Given the description of an element on the screen output the (x, y) to click on. 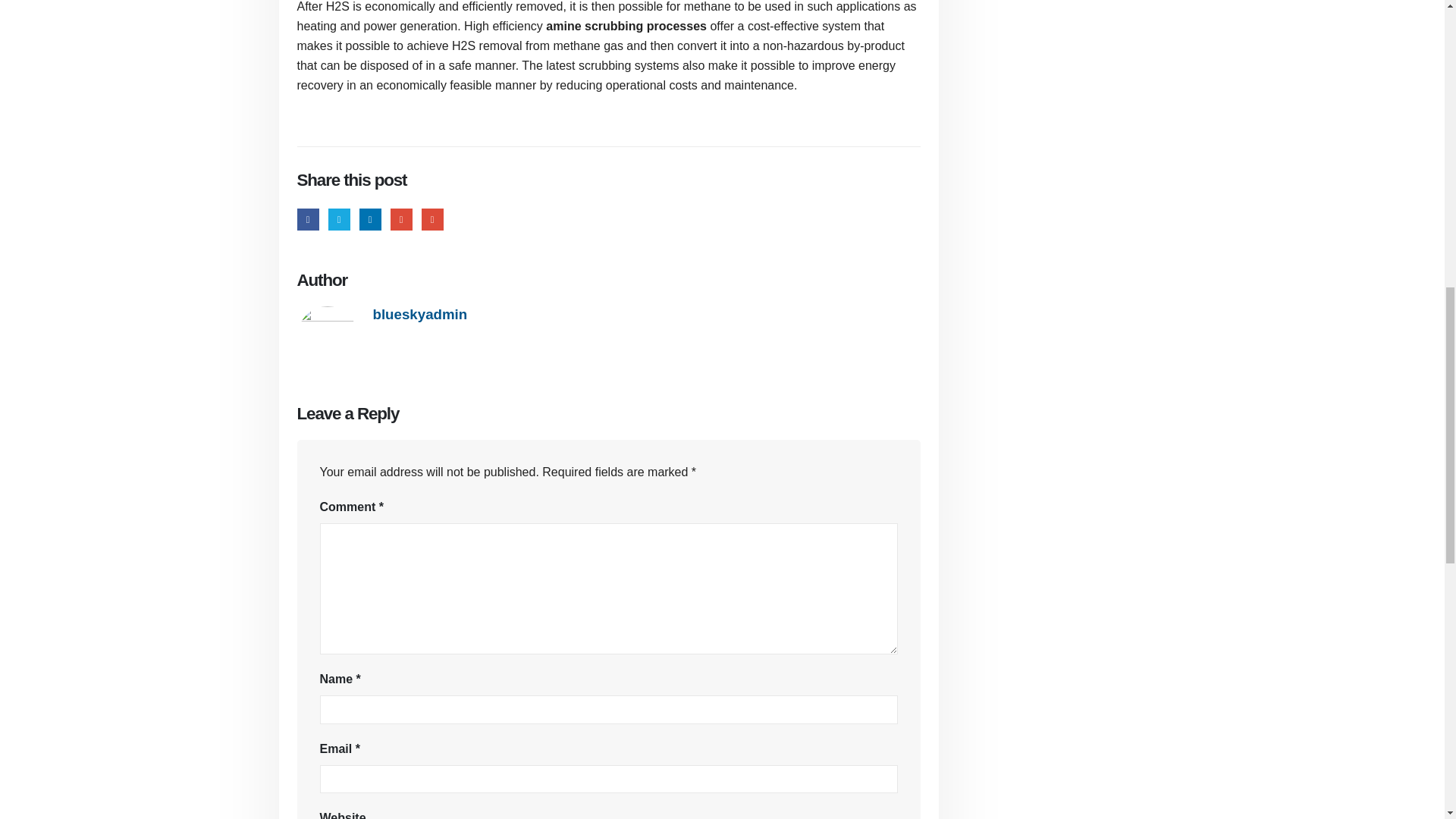
Posts by blueskyadmin (419, 314)
Facebook (307, 219)
Email (433, 219)
LinkedIn (370, 219)
Twitter (339, 219)
